Given the description of an element on the screen output the (x, y) to click on. 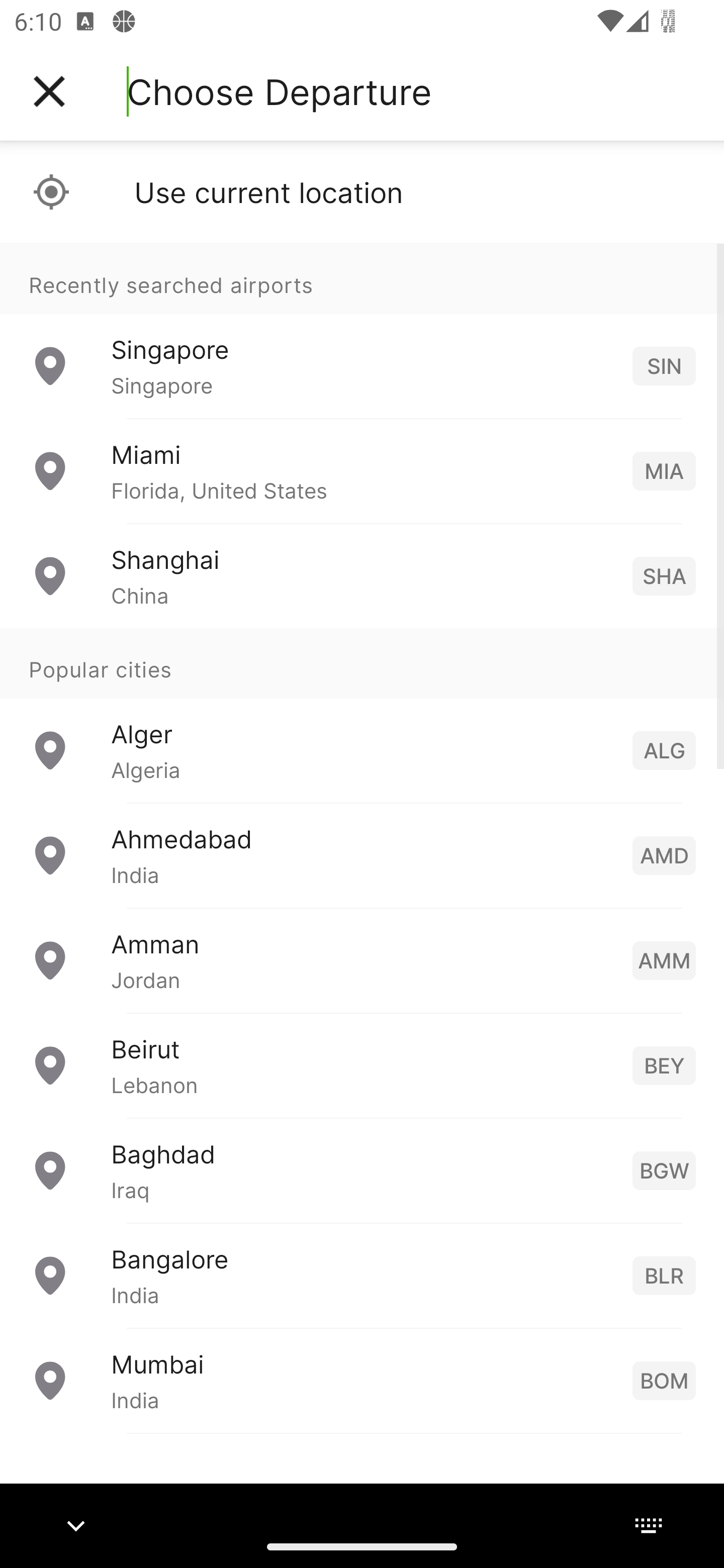
Choose Departure (279, 91)
Use current location (362, 192)
Recently searched airports Singapore Singapore SIN (362, 330)
Recently searched airports (362, 278)
Miami Florida, United States MIA (362, 470)
Shanghai China SHA (362, 575)
Popular cities Alger Algeria ALG (362, 715)
Popular cities (362, 663)
Ahmedabad India AMD (362, 854)
Amman Jordan AMM (362, 959)
Beirut Lebanon BEY (362, 1064)
Baghdad Iraq BGW (362, 1170)
Bangalore India BLR (362, 1275)
Mumbai India BOM (362, 1380)
